Given the description of an element on the screen output the (x, y) to click on. 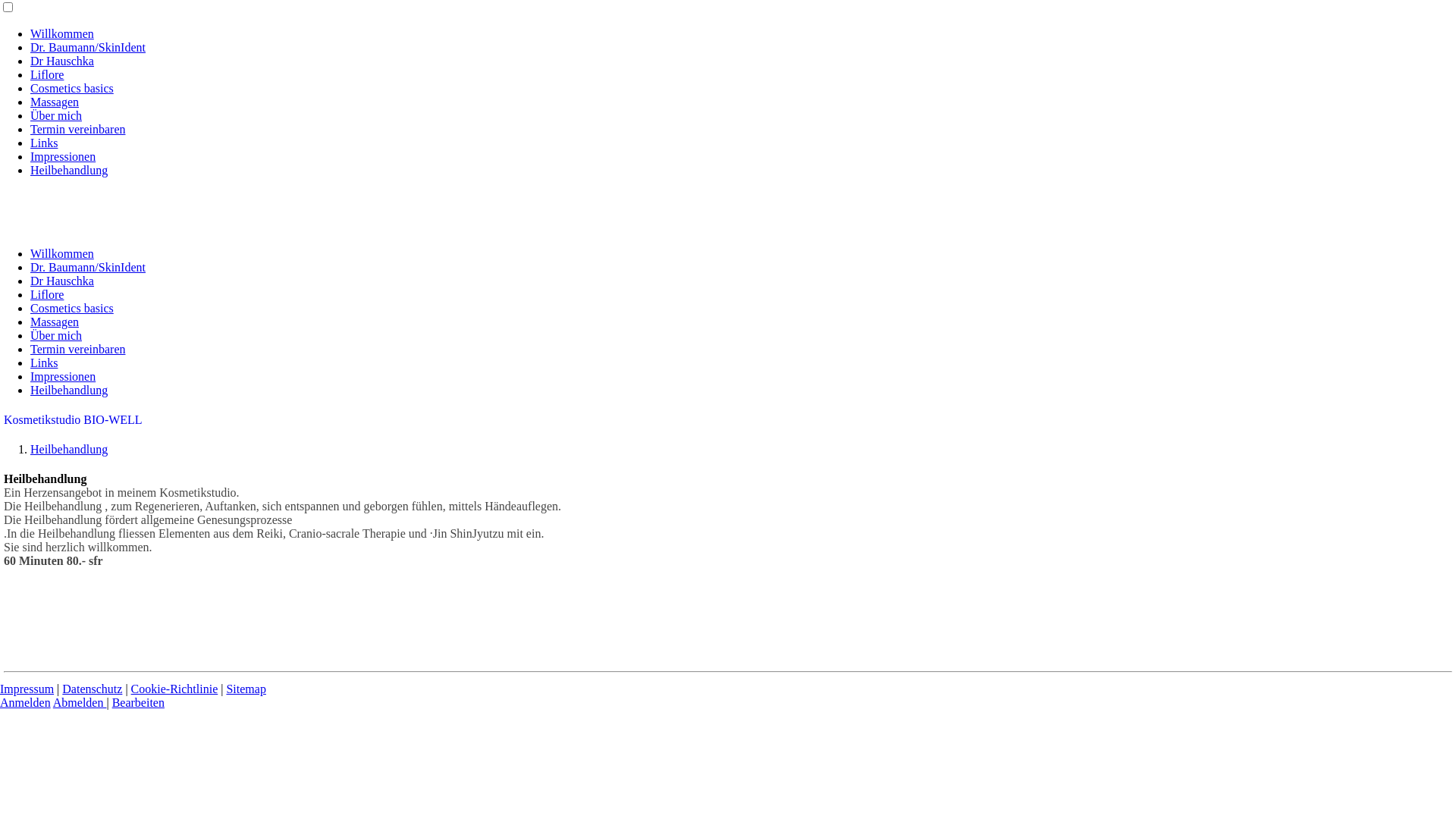
Dr Hauschka Element type: text (62, 60)
Cosmetics basics Element type: text (71, 307)
Termin vereinbaren Element type: text (77, 348)
Cosmetics basics Element type: text (71, 87)
Massagen Element type: text (54, 101)
Bearbeiten Element type: text (138, 702)
Dr. Baumann/SkinIdent Element type: text (87, 266)
Heilbehandlung Element type: text (68, 448)
Anmelden Element type: text (25, 702)
Impressionen Element type: text (62, 156)
Dr. Baumann/SkinIdent Element type: text (87, 46)
Cookie-Richtlinie Element type: text (174, 688)
Datenschutz Element type: text (92, 688)
Heilbehandlung Element type: text (68, 169)
Liflore Element type: text (46, 74)
Impressum Element type: text (26, 688)
Dr Hauschka Element type: text (62, 280)
Liflore Element type: text (46, 294)
Massagen Element type: text (54, 321)
Heilbehandlung Element type: text (68, 389)
Abmelden Element type: text (79, 702)
Sitemap Element type: text (245, 688)
Termin vereinbaren Element type: text (77, 128)
Links Element type: text (43, 362)
Kosmetikstudio BIO-WELL Element type: text (72, 419)
Willkommen Element type: text (62, 33)
Links Element type: text (43, 142)
Impressionen Element type: text (62, 376)
Willkommen Element type: text (62, 253)
